Given the description of an element on the screen output the (x, y) to click on. 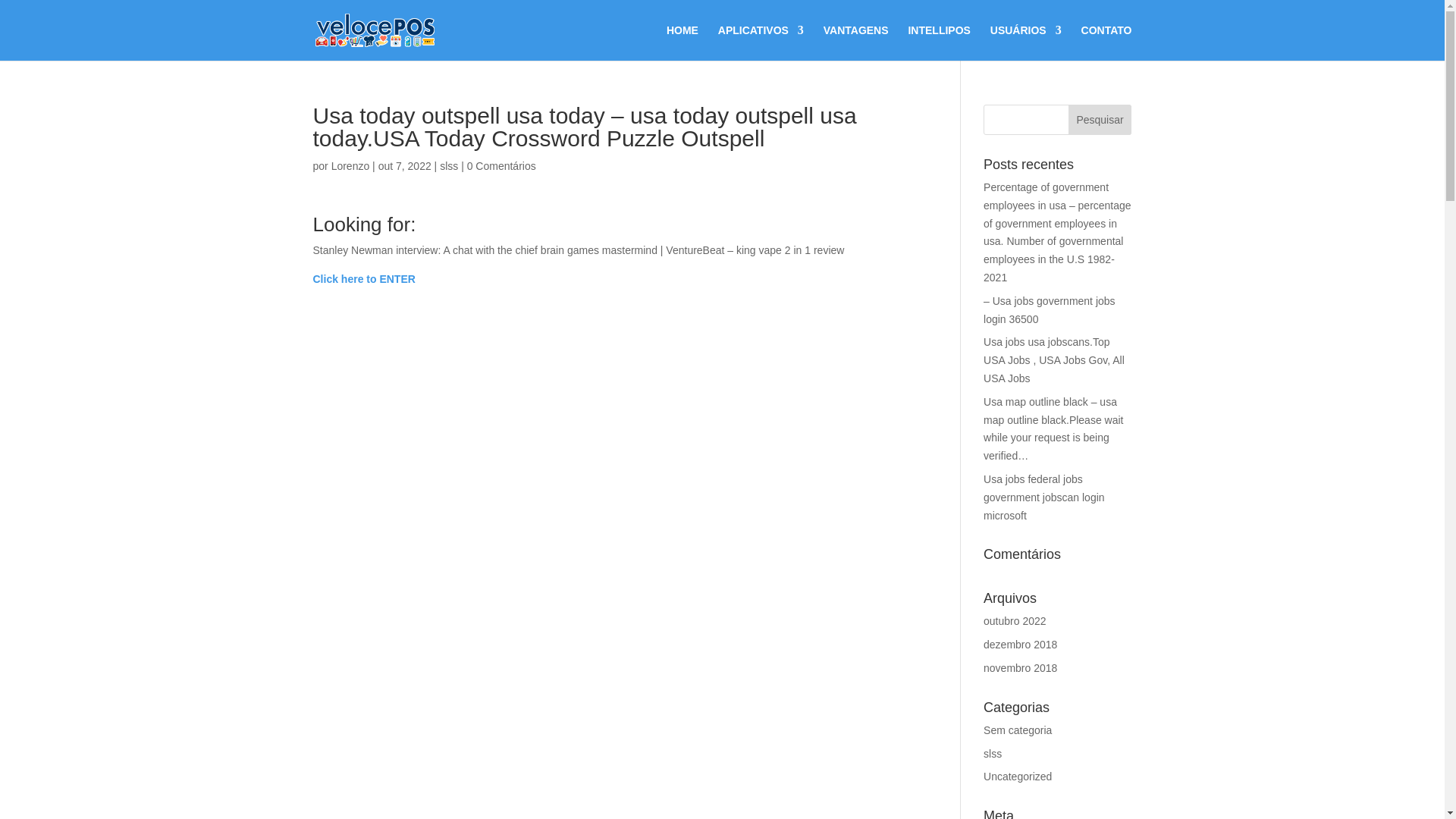
Click here to ENTER (363, 278)
slss (448, 165)
VANTAGENS (856, 42)
APLICATIVOS (760, 42)
CONTATO (1106, 42)
Lorenzo (350, 165)
Pesquisar (1100, 119)
INTELLIPOS (938, 42)
Postagem de Lorenzo (350, 165)
HOME (682, 42)
